Given the description of an element on the screen output the (x, y) to click on. 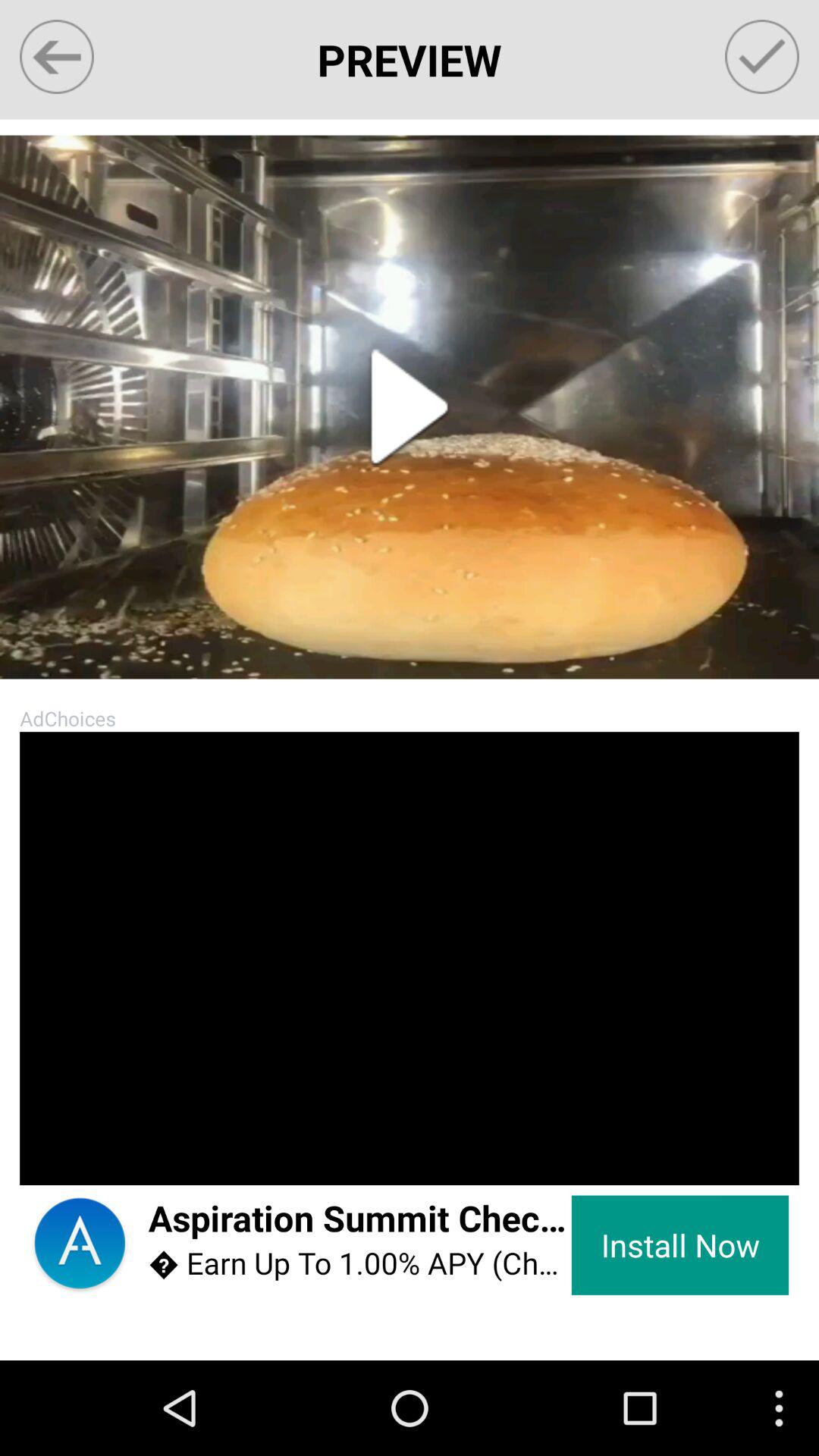
choose the item next to the aspiration summit checking (679, 1245)
